Given the description of an element on the screen output the (x, y) to click on. 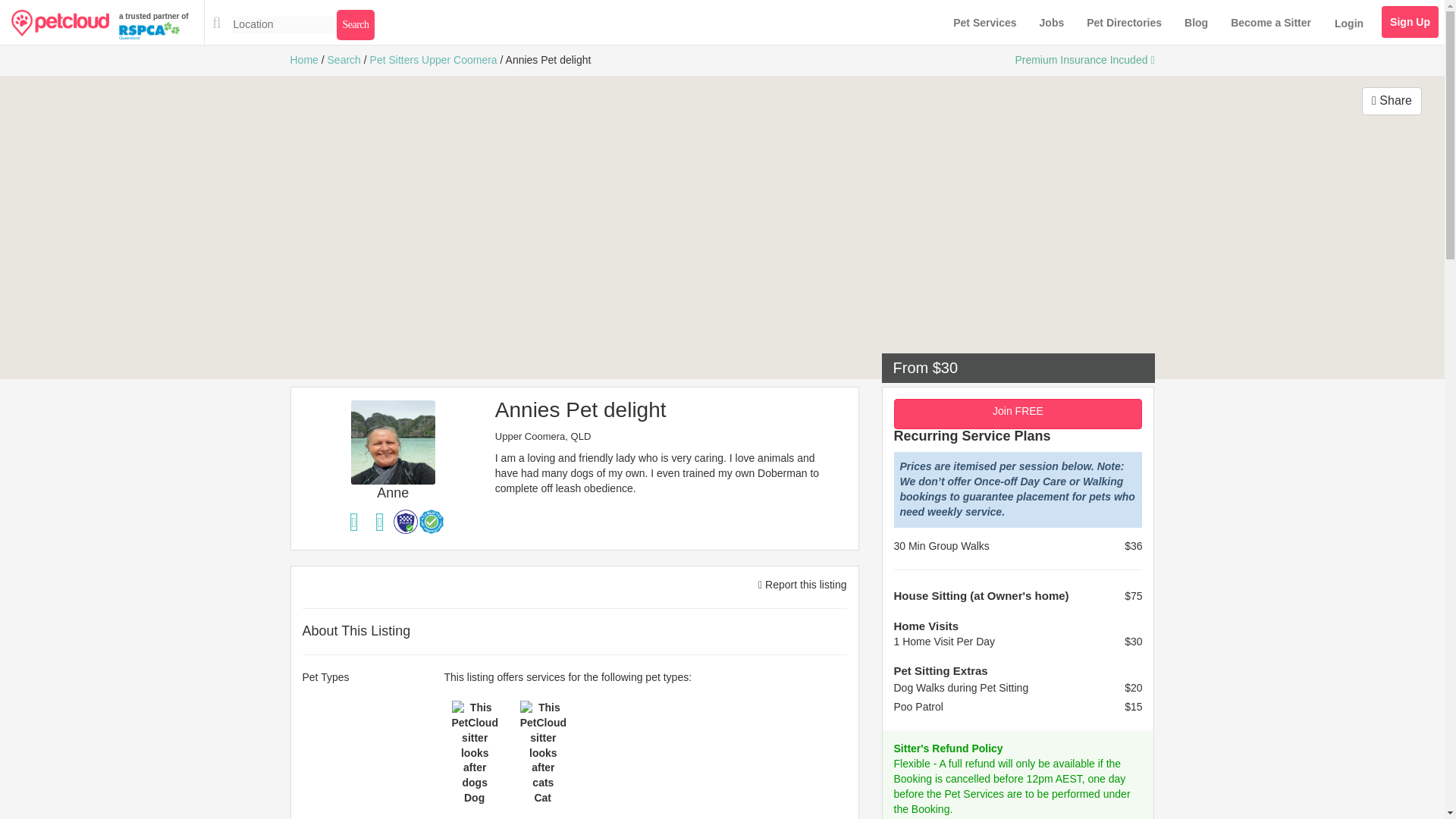
Mobile Verified (354, 521)
RSPCA Qld Accredited (431, 521)
Search (355, 24)
Facebook Verified (379, 521)
Police Checked (405, 521)
Pet Services (984, 22)
